Given the description of an element on the screen output the (x, y) to click on. 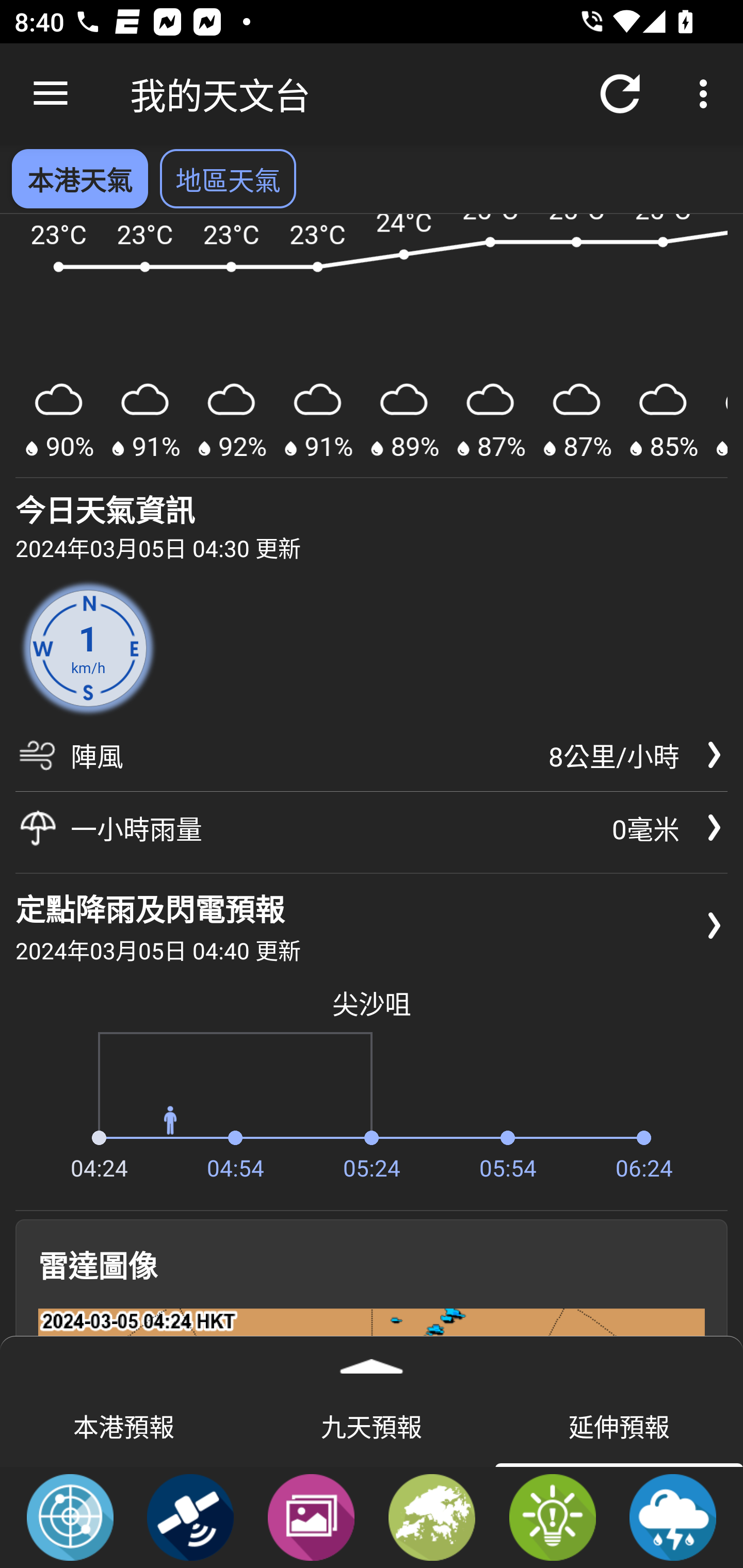
向上瀏覽 (50, 93)
重新整理 (619, 93)
更多選項 (706, 93)
本港天氣 已選擇 本港天氣 (79, 178)
地區天氣 選擇 地區天氣 (227, 178)
九天自動天氣預報 圖片
輕按進入內頁，即可了解詳細資料。 ARWF (371, 346)
風向不定
風速每小時1公里 1 km/h (88, 648)
陣風 8公里/小時 陣風 8公里/小時 (371, 761)
一小時雨量 0毫米 一小時雨量 0毫米 (371, 827)
展開 (371, 1358)
本港預報 (123, 1424)
九天預報 (371, 1424)
雷達圖像 (69, 1516)
衛星圖像 (190, 1516)
天氣照片 (310, 1516)
分區天氣 (431, 1516)
天氣提示 (551, 1516)
定點降雨及閃電預報 (672, 1516)
